Given the description of an element on the screen output the (x, y) to click on. 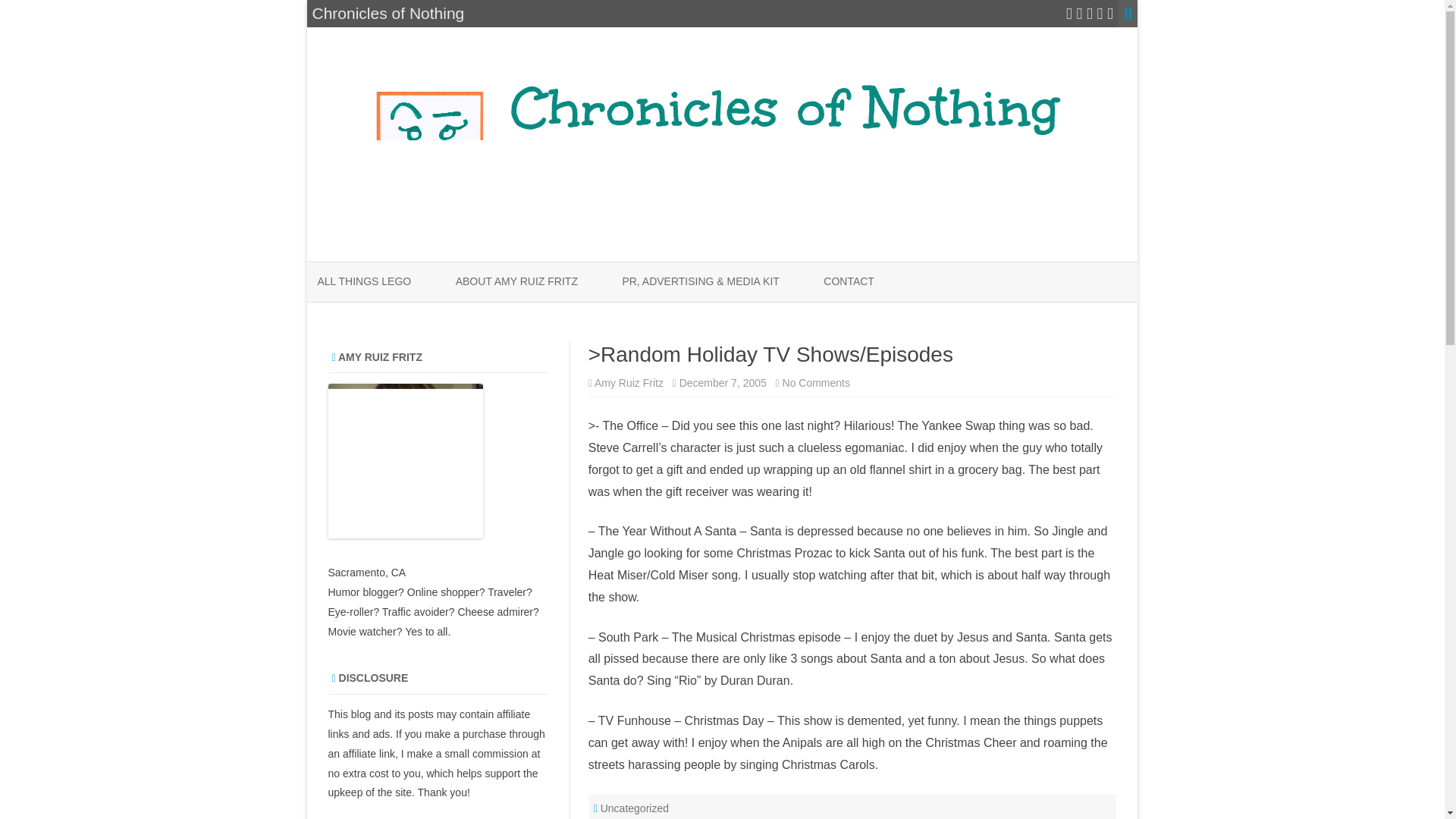
ABOUT AMY RUIZ FRITZ (516, 282)
Amy Ruiz Fritz (628, 382)
CONTACT (849, 282)
Uncategorized (633, 808)
ALL THINGS LEGO (363, 282)
